Given the description of an element on the screen output the (x, y) to click on. 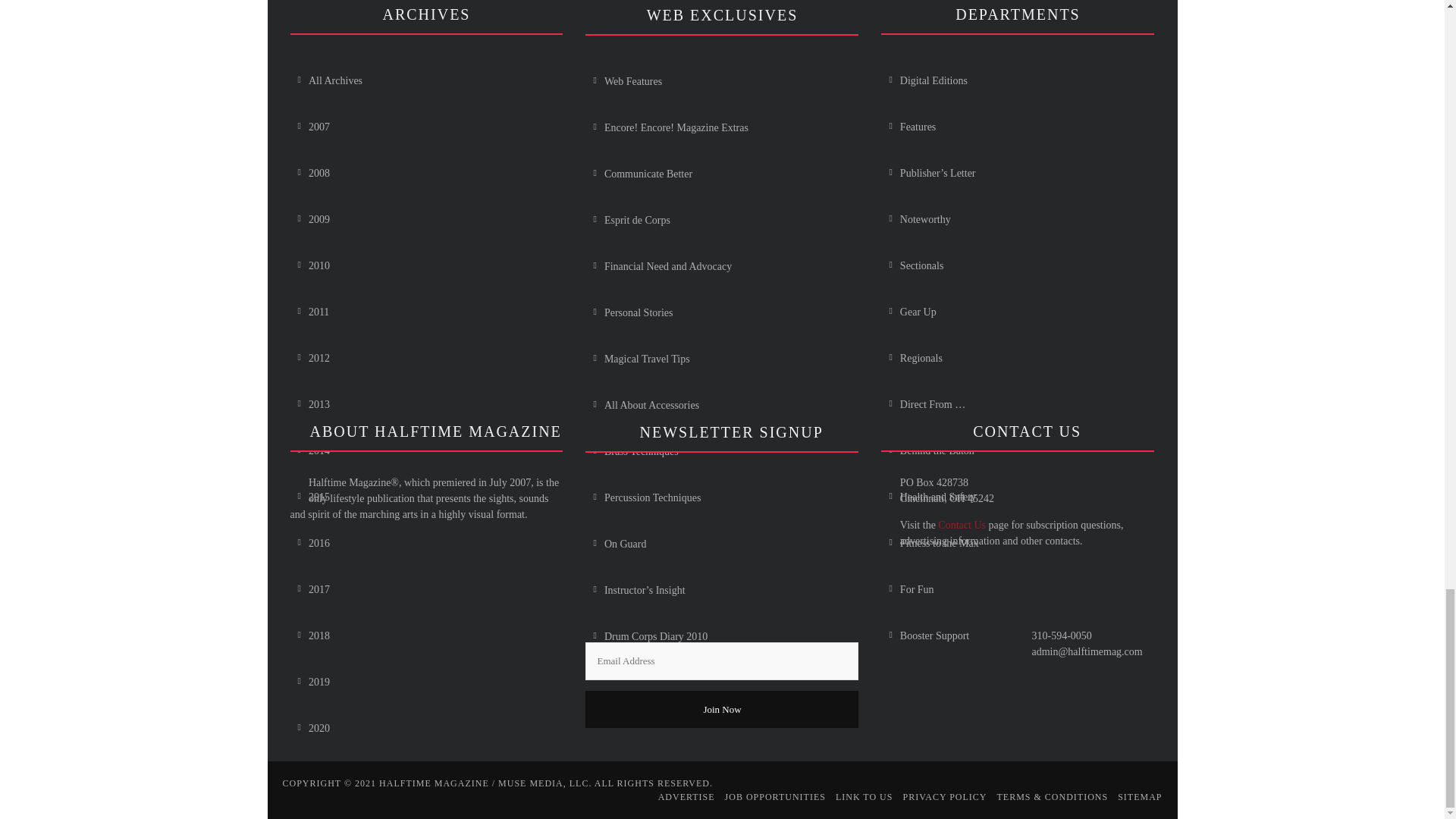
Join Now (722, 709)
